Given the description of an element on the screen output the (x, y) to click on. 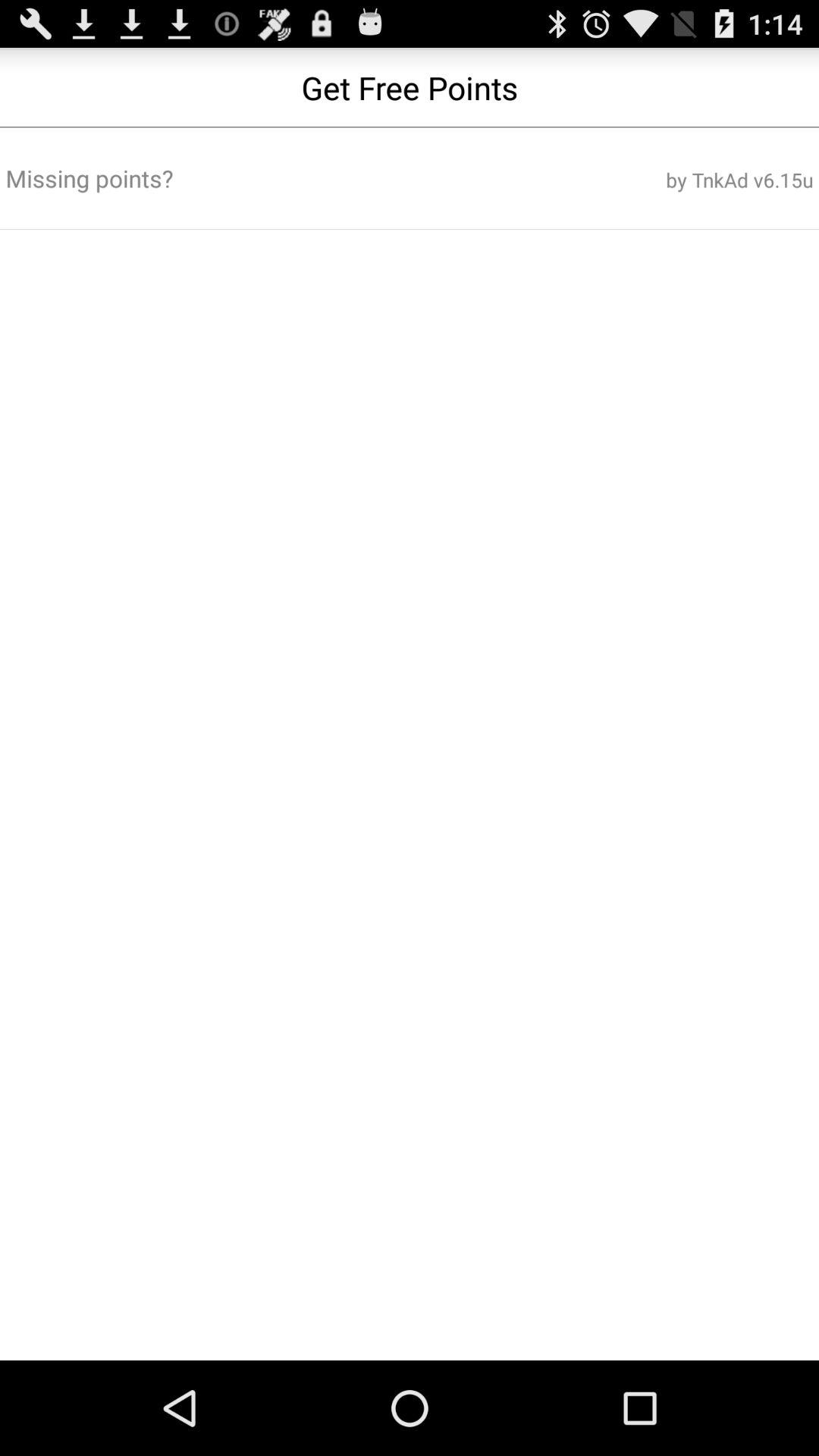
launch by tnkad v6 (677, 180)
